Given the description of an element on the screen output the (x, y) to click on. 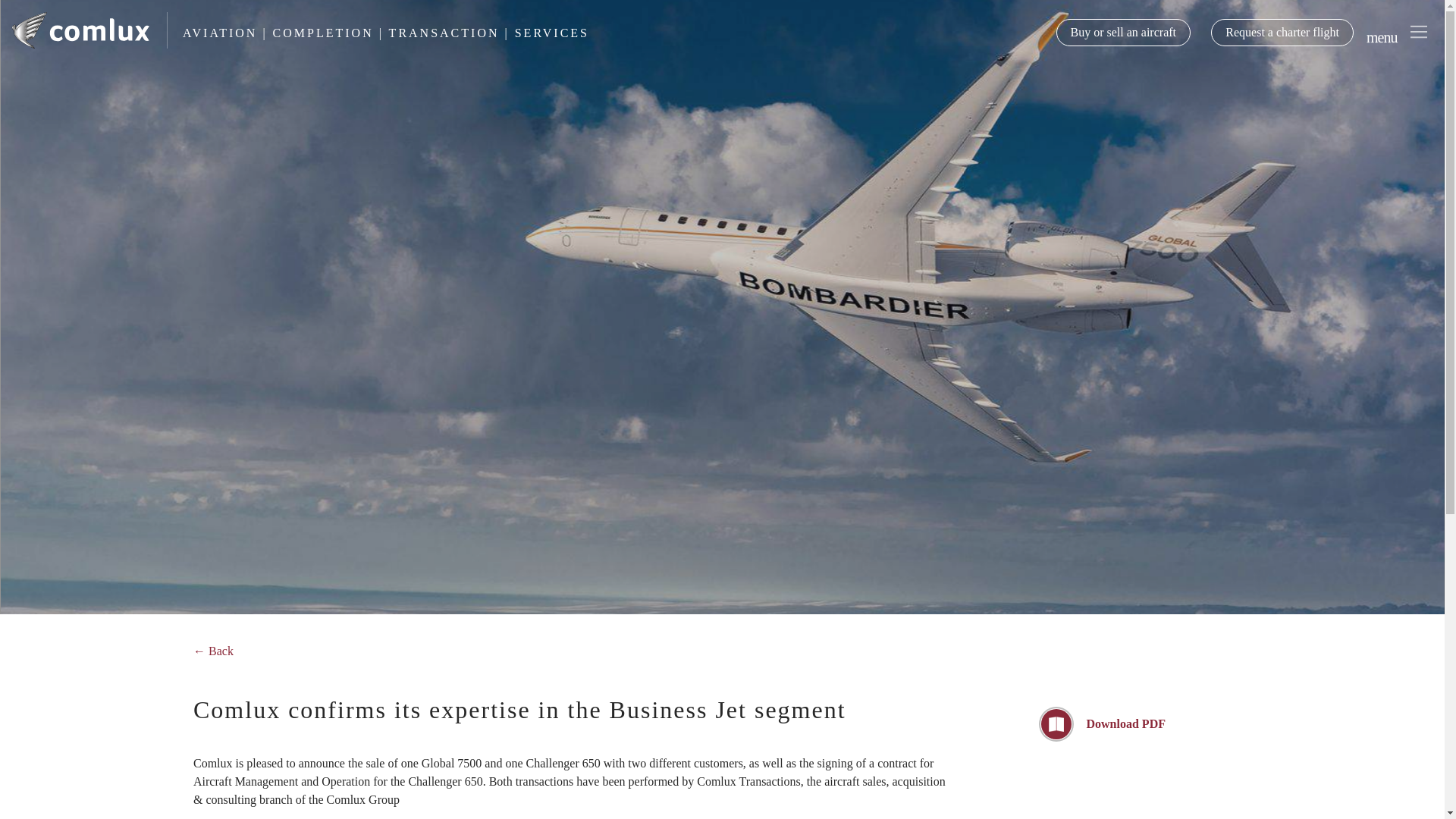
AVIATION (222, 32)
Back (220, 650)
Request a charter flight (1282, 31)
Buy or sell an aircraft (1123, 31)
